Given the description of an element on the screen output the (x, y) to click on. 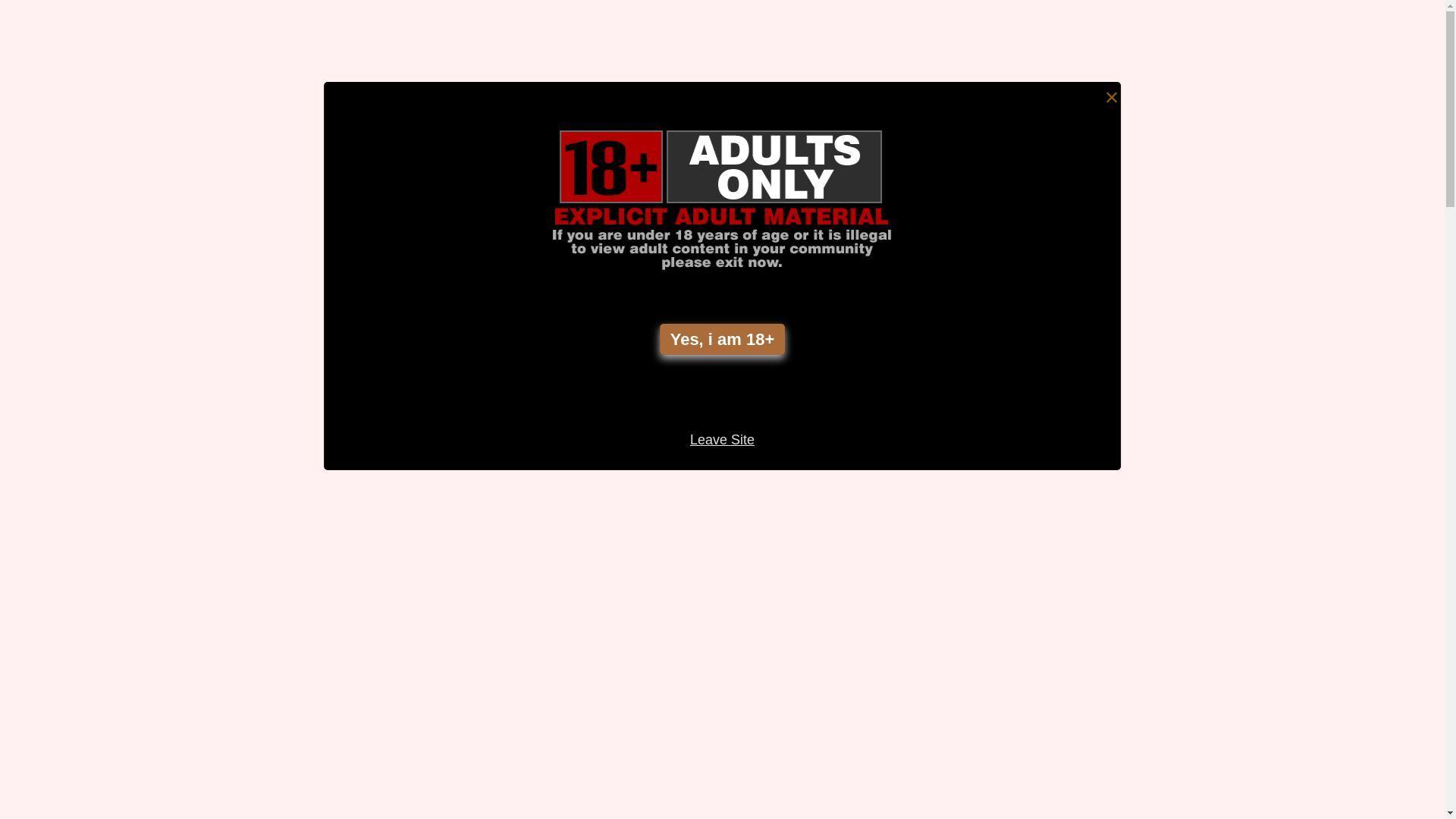
Have you ever had a sex change Watertown, Connecticut. Element type: hover (842, 195)
Leave Site Element type: text (722, 439)
Women Dardanelle, Arkansas Element type: text (1207, 644)
Swingers Alabama Element type: text (1174, 190)
Swingers Ellensburg Element type: text (1179, 115)
Buddy Cajon Element type: text (1156, 493)
Swingers Tacoma Puyallup Element type: text (1199, 795)
Zanesville, swinging Element type: text (1178, 606)
Girls Vernal Element type: text (1152, 342)
Lexington, Alabama girls Element type: text (1192, 720)
Pussy Element type: text (1135, 77)
Old wemn like hot from behaind Watertown, Connecticut. Element type: hover (295, 206)
Milfs Naples, Florida Element type: text (1179, 682)
Milfs Paso Element type: text (1148, 455)
Cheating chatlines Lewiston Element type: text (1203, 153)
Swapping swallows Element type: text (1178, 379)
Login Element type: text (707, 26)
Girls Somerset, money Element type: text (1187, 569)
Local girls online looking Element type: text (1192, 757)
Swingers Brighton, Illinois Element type: text (1196, 417)
Public beach swingers Element type: text (1185, 531)
Adult clubs Element type: text (1152, 266)
Yes, i am 18+ Element type: text (722, 338)
Pineville Element type: text (1143, 304)
Does big women get big pussies Watertown, Connecticut. Element type: hover (568, 669)
Swingers Wingate Element type: text (1173, 228)
